Given the description of an element on the screen output the (x, y) to click on. 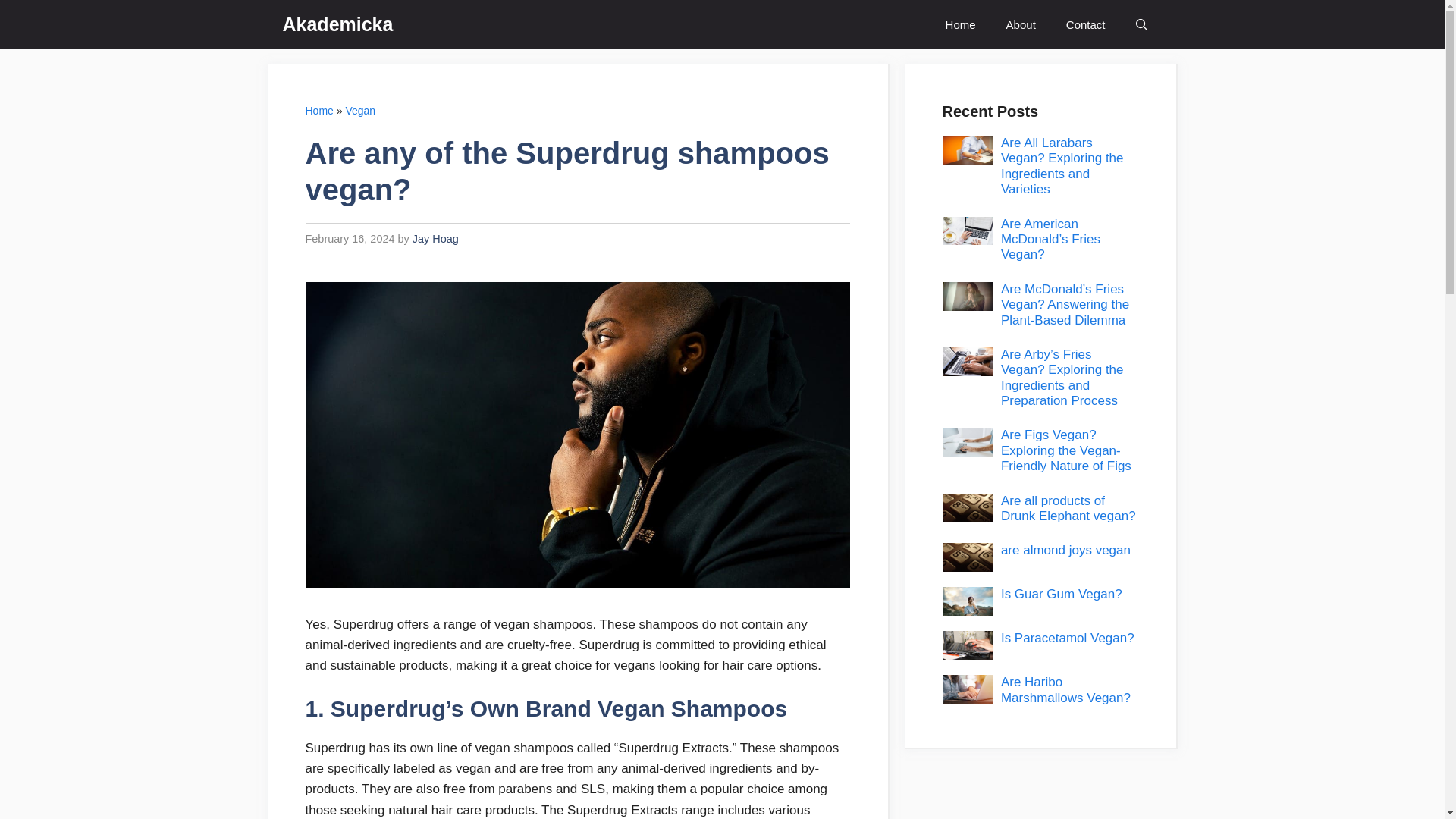
Is Guar Gum Vegan? (1061, 594)
Jay Hoag (435, 238)
Home (960, 24)
are almond joys vegan (1066, 549)
Are all products of Drunk Elephant vegan? (1068, 508)
View all posts by Jay Hoag (435, 238)
Are Figs Vegan? Exploring the Vegan-Friendly Nature of Figs (1066, 450)
Vegan (360, 110)
About (1021, 24)
Home (318, 110)
Akademicka (337, 24)
Are Haribo Marshmallows Vegan? (1066, 689)
Contact (1086, 24)
Is Paracetamol Vegan? (1067, 637)
